Given the description of an element on the screen output the (x, y) to click on. 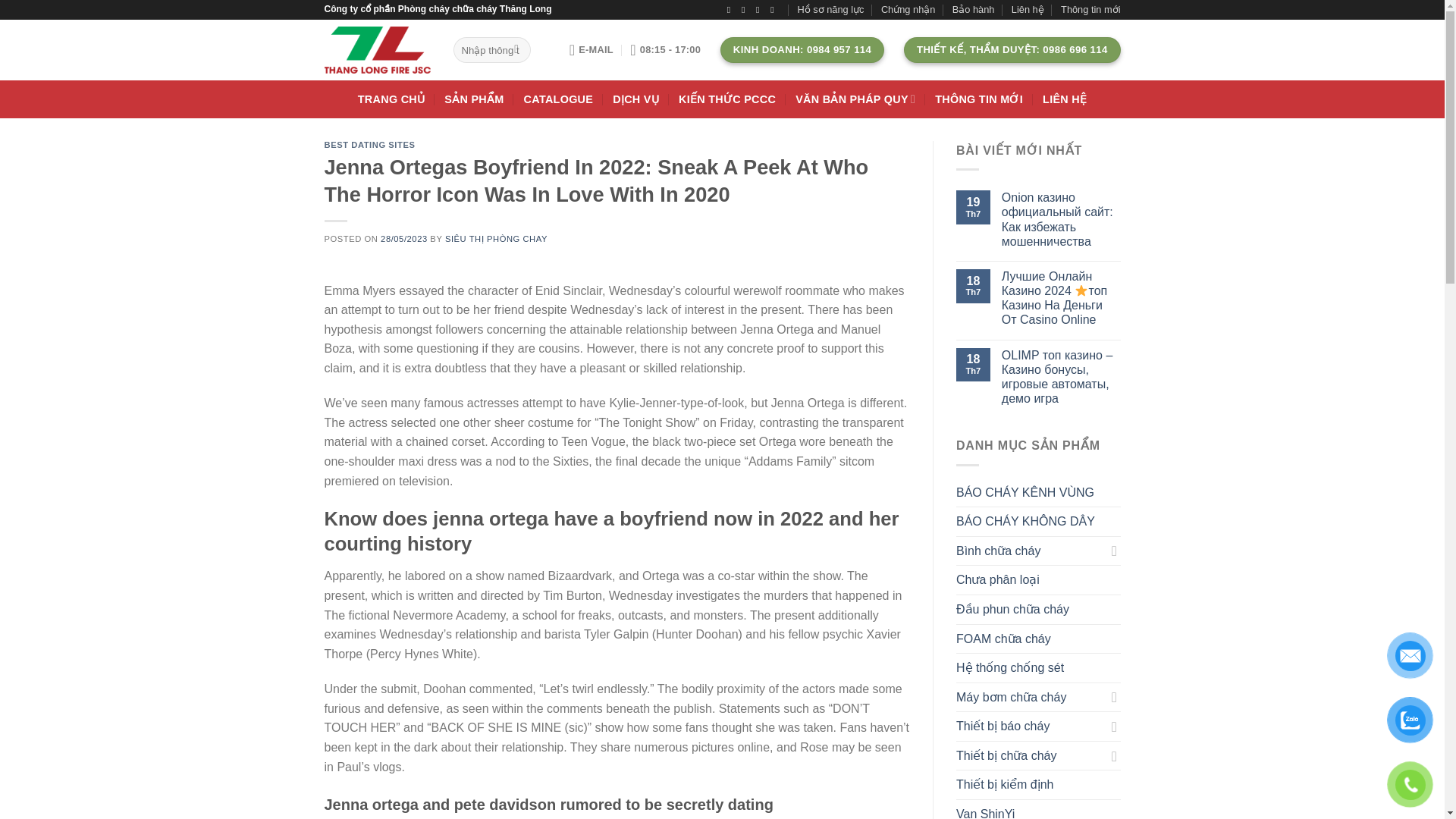
BEST DATING SITES (369, 144)
Follow on Instagram (746, 9)
08:15 - 17:00  (665, 49)
Send us an email (774, 9)
KINH DOANH: 0984 957 114 (801, 49)
08:15 - 17:00 (665, 49)
Follow on Facebook (731, 9)
E-MAIL (590, 49)
Follow on Twitter (760, 9)
CATALOGUE (559, 98)
